Given the description of an element on the screen output the (x, y) to click on. 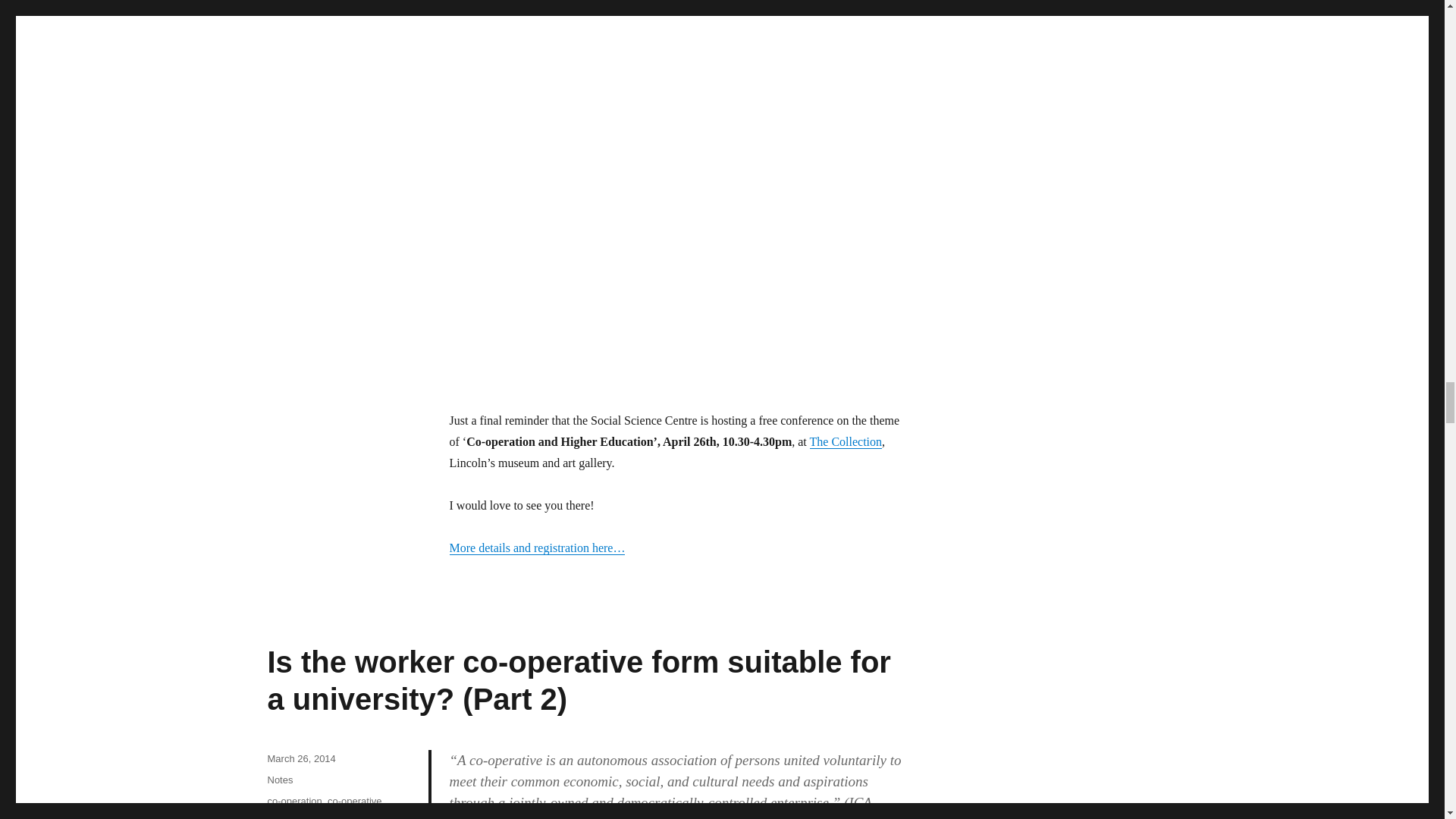
The Collection and Usher Gallery (845, 440)
